Given the description of an element on the screen output the (x, y) to click on. 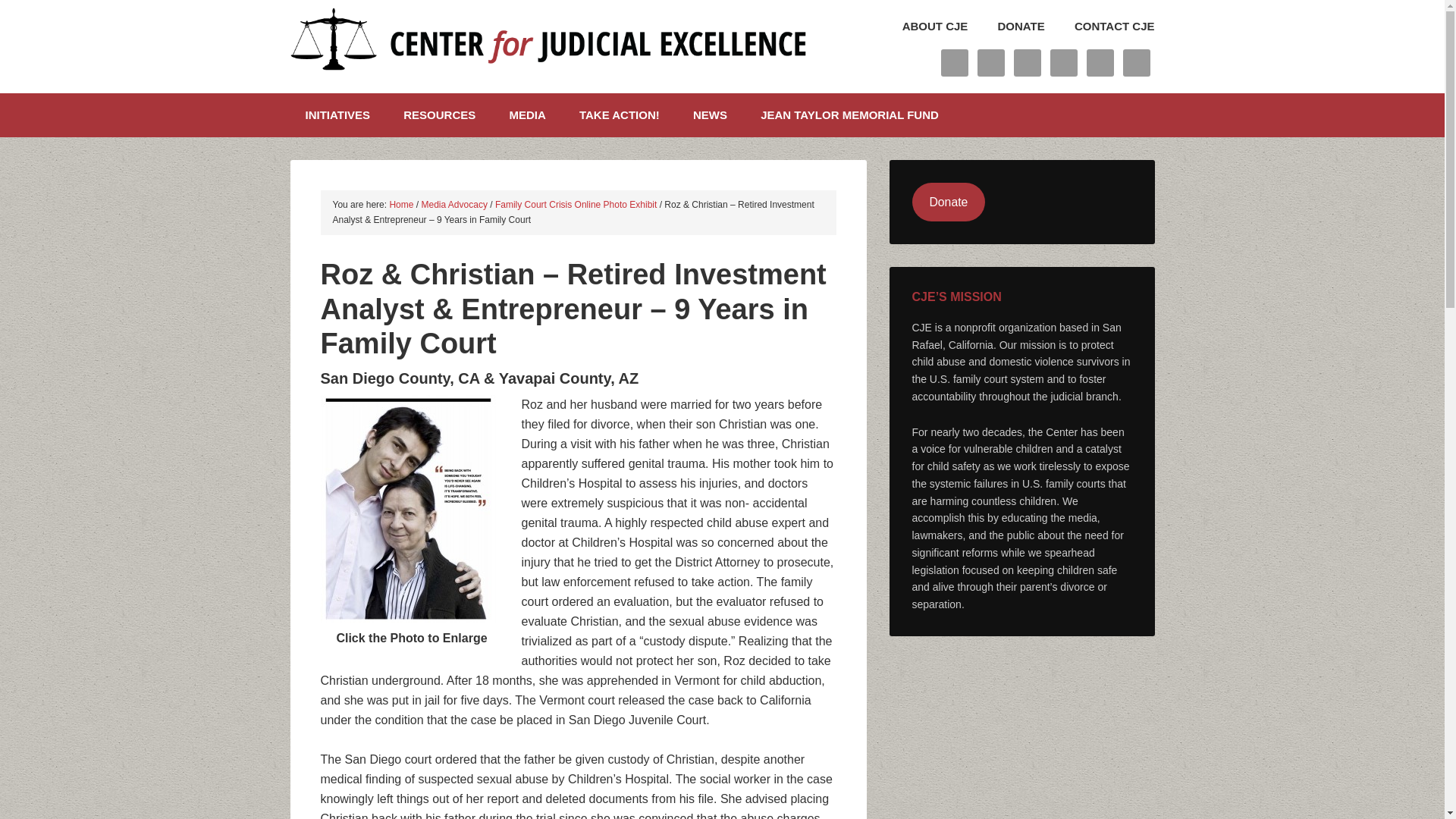
CENTER FOR JUDICIAL EXCELLENCE (547, 45)
MEDIA (526, 114)
DONATE (1008, 33)
CONTACT CJE (1101, 33)
ABOUT CJE (922, 33)
RESOURCES (439, 114)
INITIATIVES (337, 114)
